Given the description of an element on the screen output the (x, y) to click on. 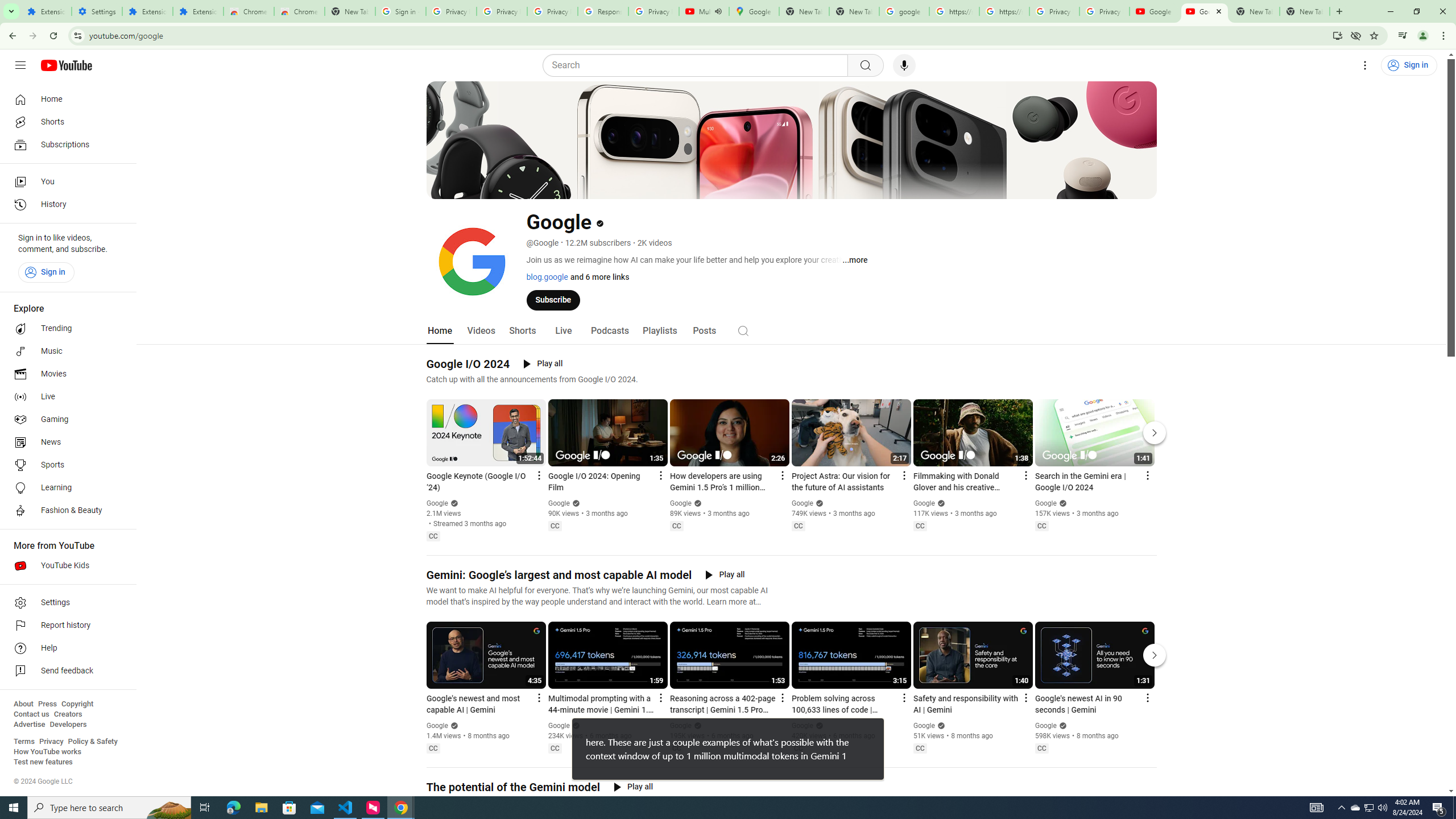
Live (562, 330)
Next (1154, 654)
Mute tab (717, 10)
Action menu (1146, 697)
https://scholar.google.com/ (1004, 11)
How YouTube works (47, 751)
Google - YouTube (1154, 11)
